Given the description of an element on the screen output the (x, y) to click on. 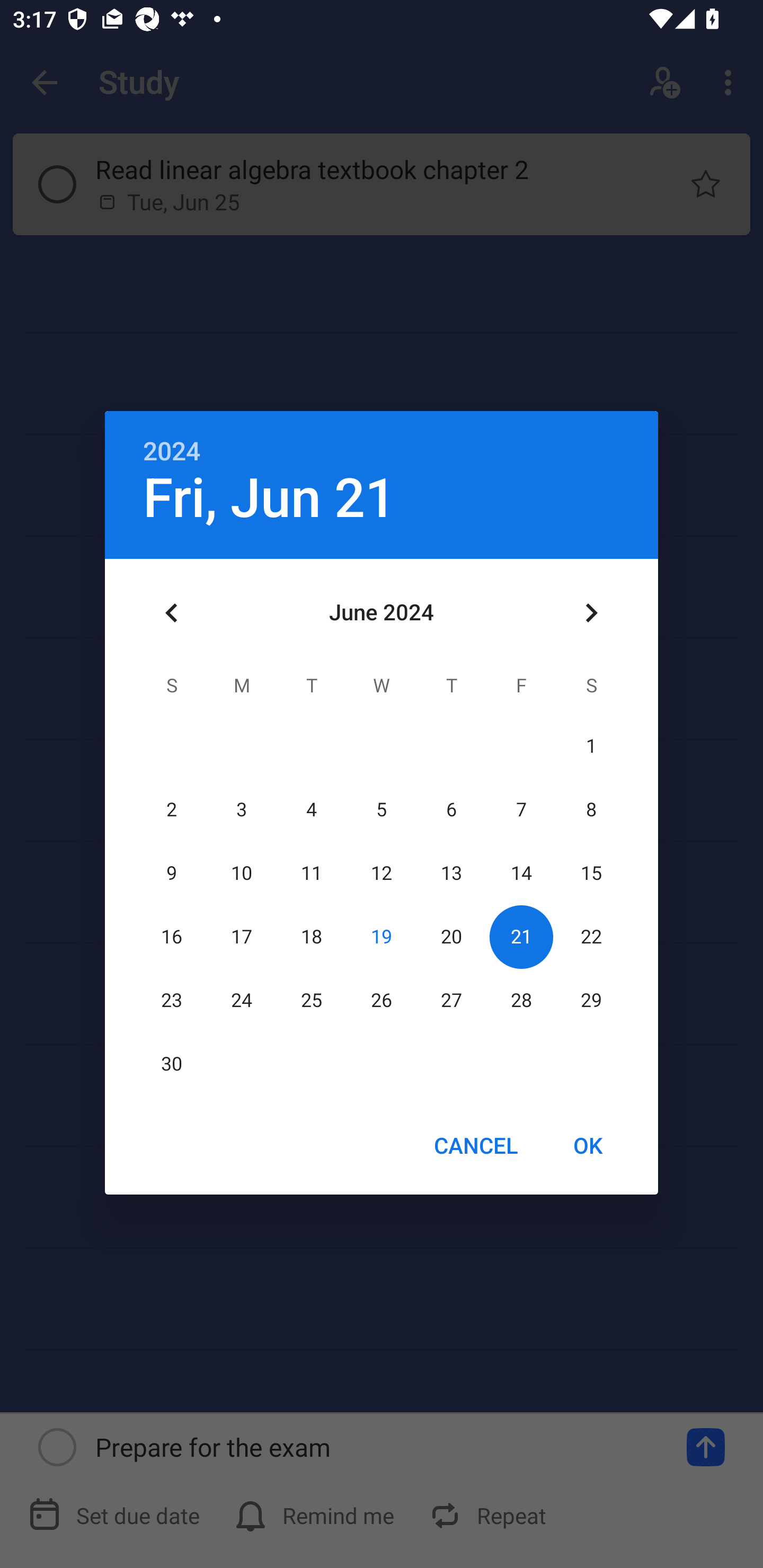
OK (588, 1145)
